Given the description of an element on the screen output the (x, y) to click on. 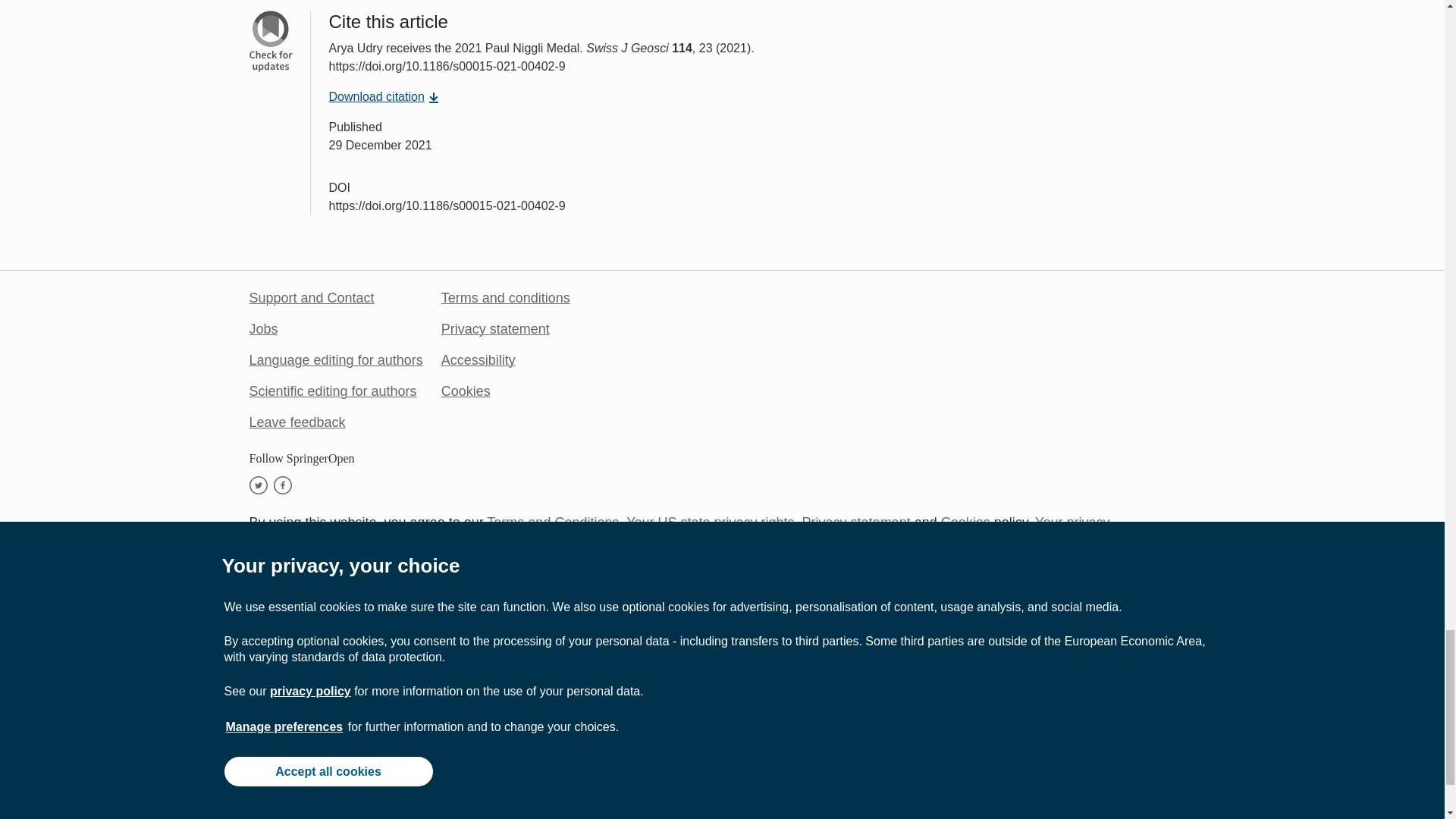
Privacy statement (495, 328)
Scientific editing for authors (332, 391)
Accessibility (478, 359)
Digital Object Identifier (339, 187)
Terms and Conditions (552, 522)
Language editing for authors (335, 359)
Terms and conditions (505, 297)
Leave feedback (296, 421)
Download citation (384, 96)
Jobs (263, 328)
